Given the description of an element on the screen output the (x, y) to click on. 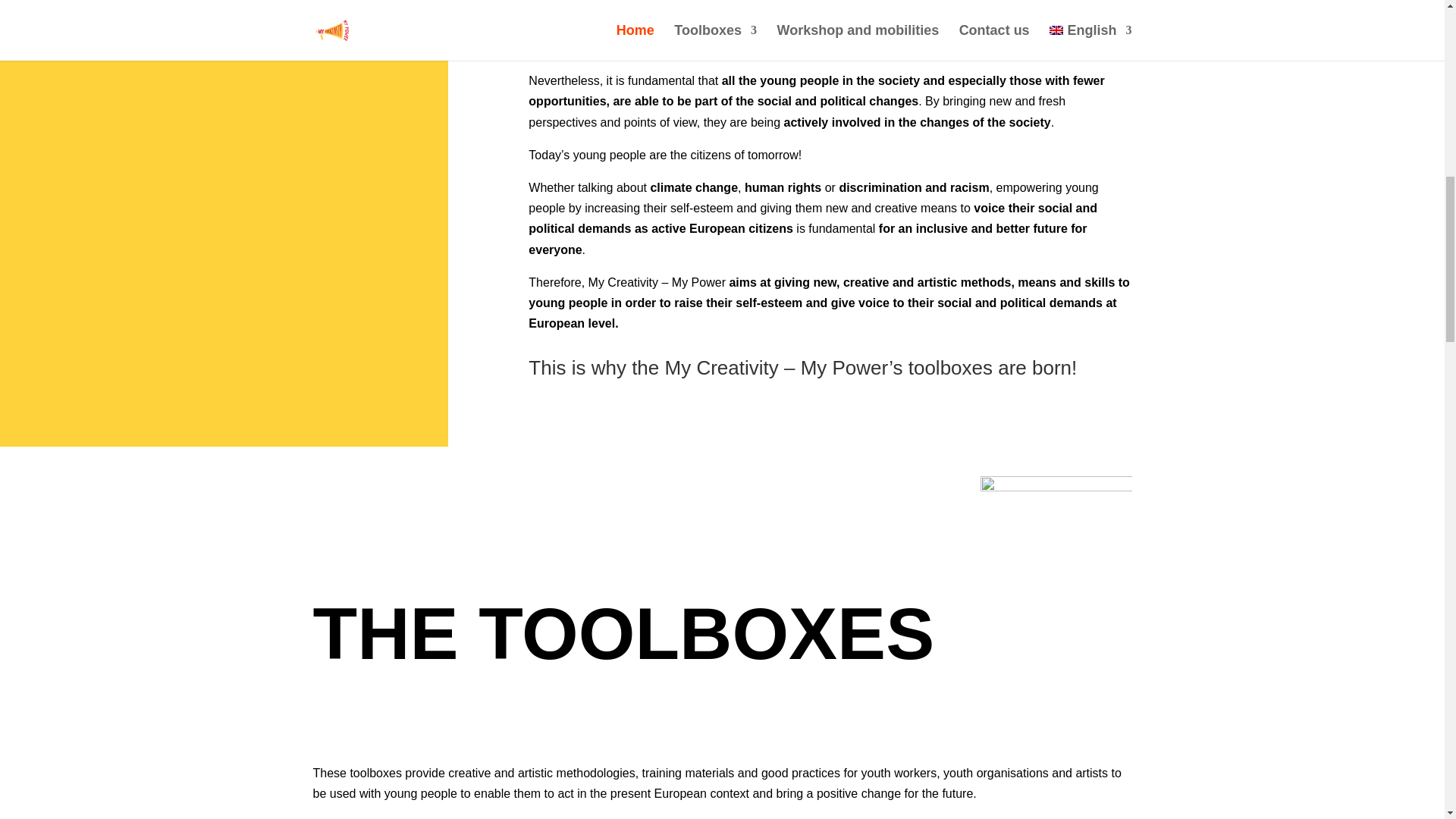
Painter-artist-30 (1055, 551)
